Given the description of an element on the screen output the (x, y) to click on. 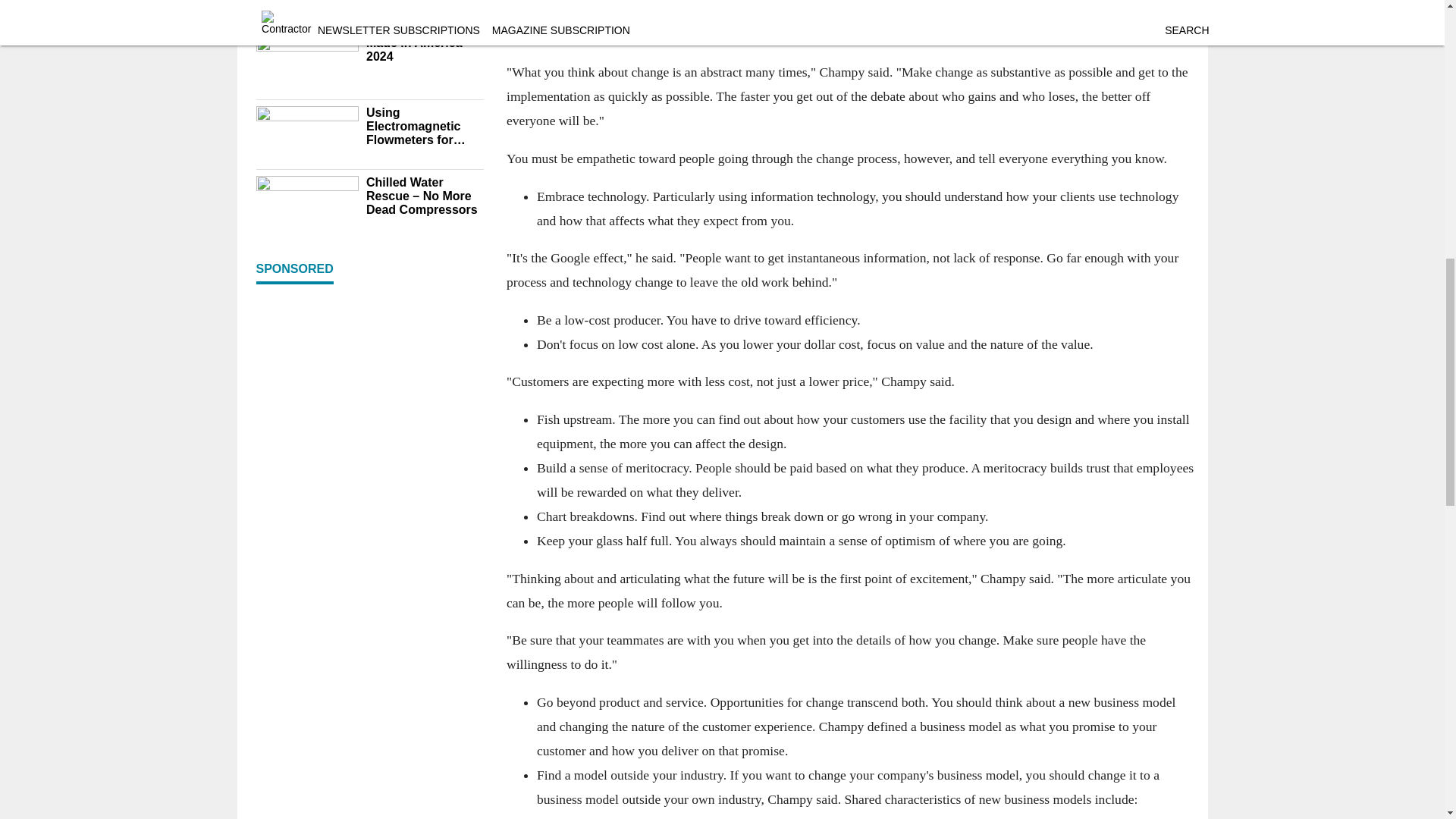
Made in America 2024 (424, 49)
